Given the description of an element on the screen output the (x, y) to click on. 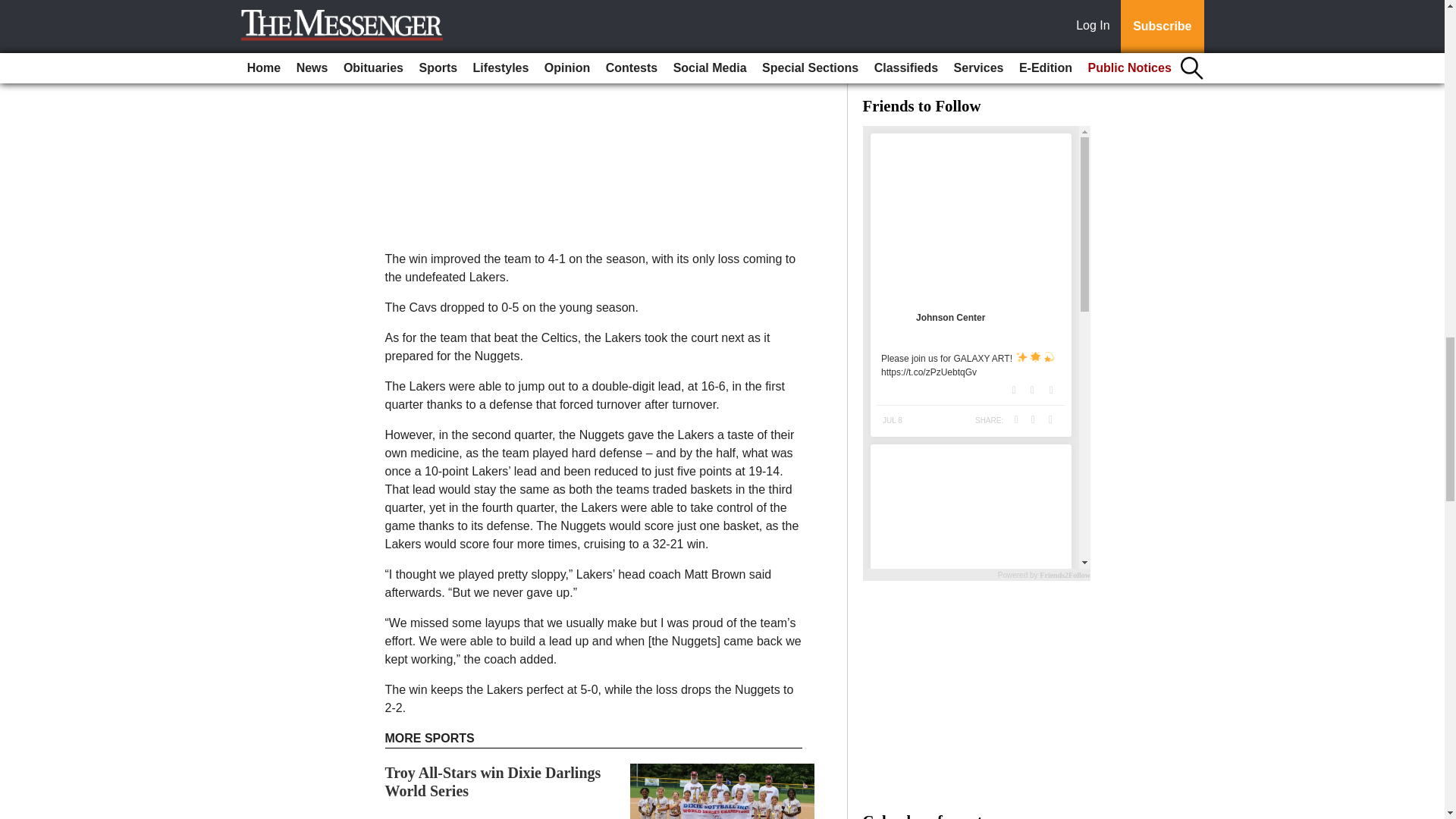
Troy All-Stars win Dixie Darlings World Series (493, 781)
